Given the description of an element on the screen output the (x, y) to click on. 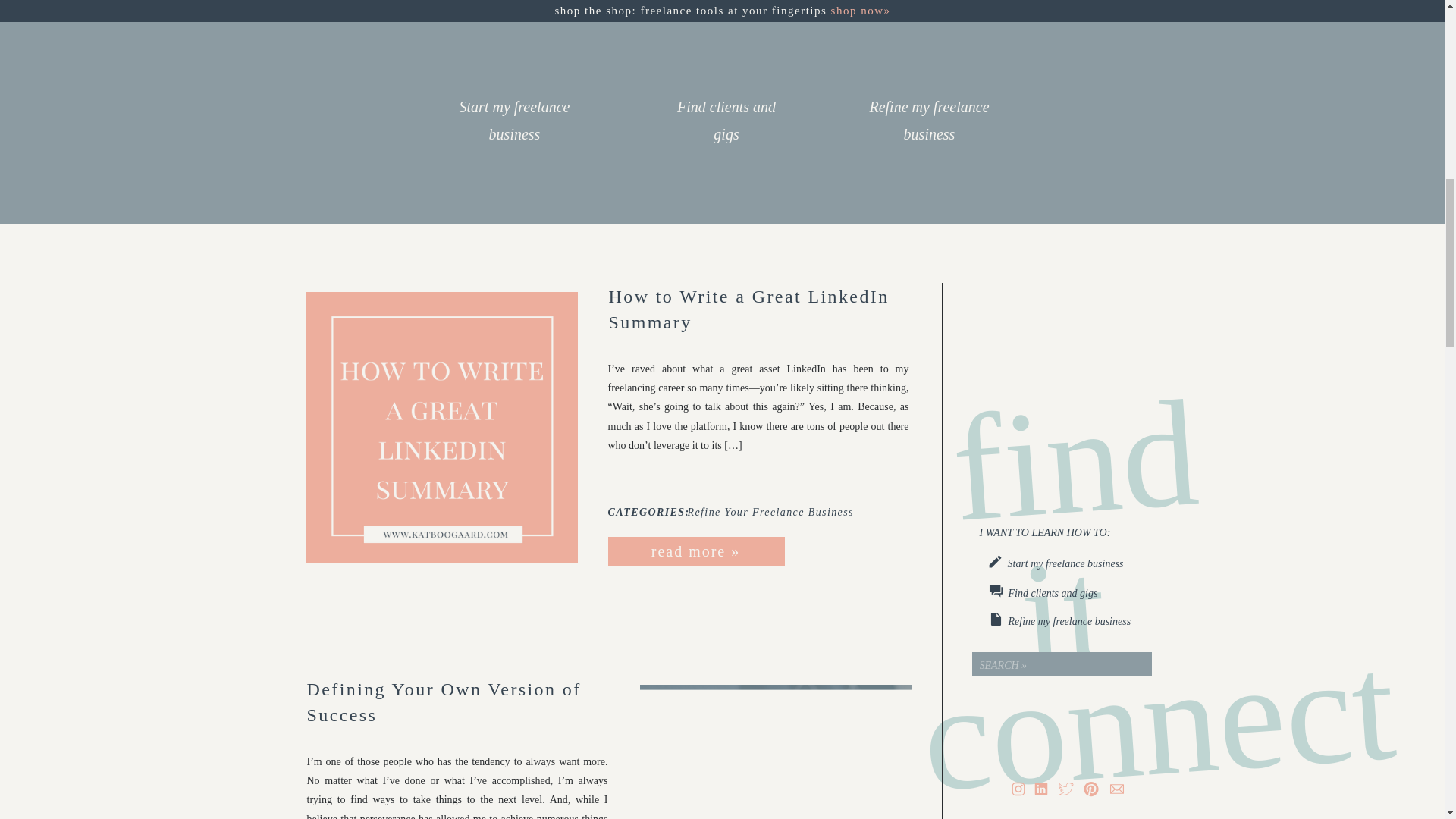
Start my freelance business (1082, 563)
How to Write a Great LinkedIn Summary (748, 309)
Defining Your Own Version of Success (775, 751)
How to Write a Great LinkedIn Summary (441, 427)
Start my freelance business (514, 125)
Refine my freelance business (1087, 620)
How to Write a Great LinkedIn Summary (695, 551)
Refine my freelance business (928, 128)
Find clients and gigs (1081, 592)
Find clients and gigs (726, 126)
